Given the description of an element on the screen output the (x, y) to click on. 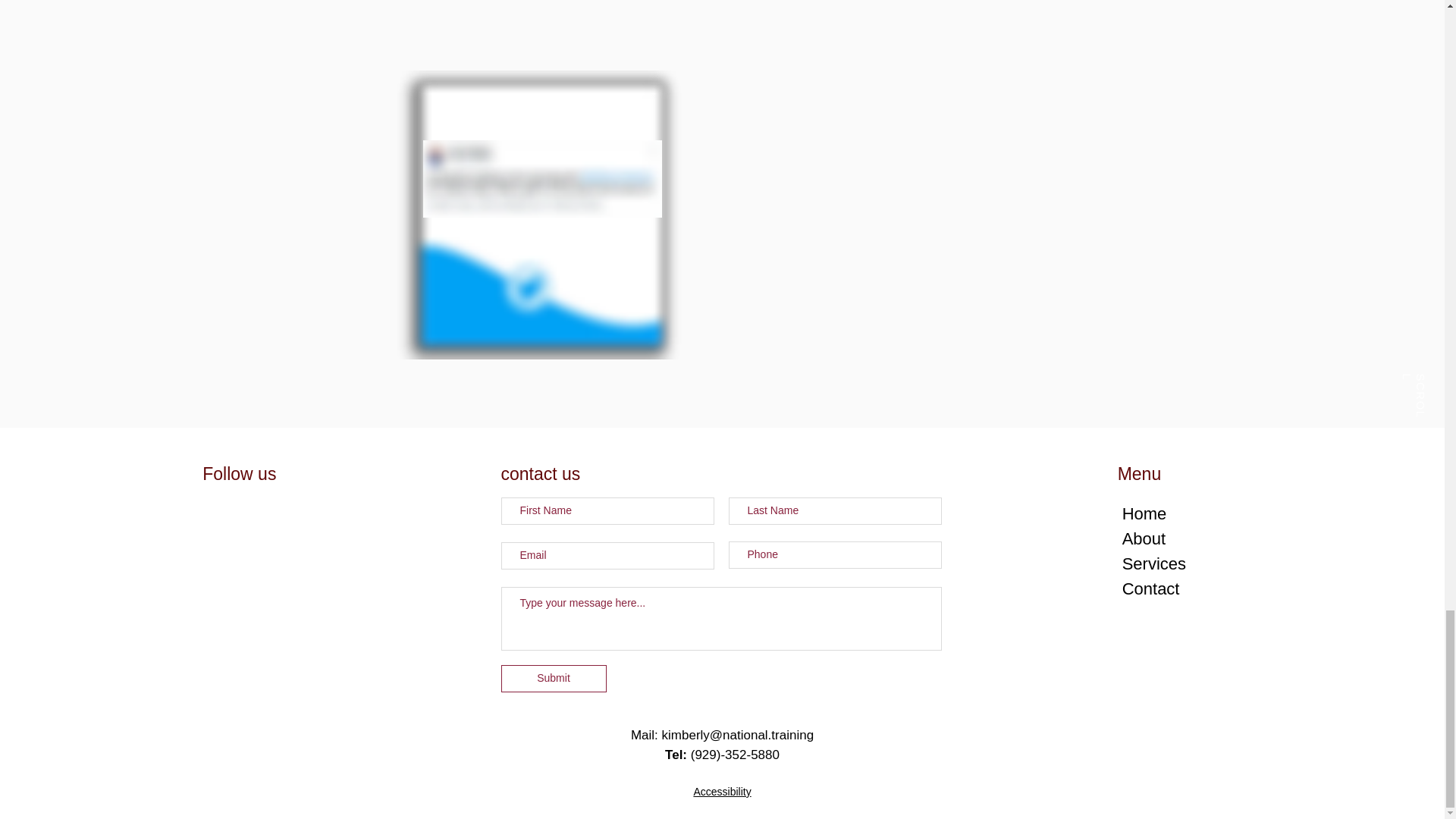
Submit (552, 678)
About (1144, 538)
Accessibility (722, 791)
Home (1144, 513)
Services (1154, 563)
Contact (1150, 588)
